Given the description of an element on the screen output the (x, y) to click on. 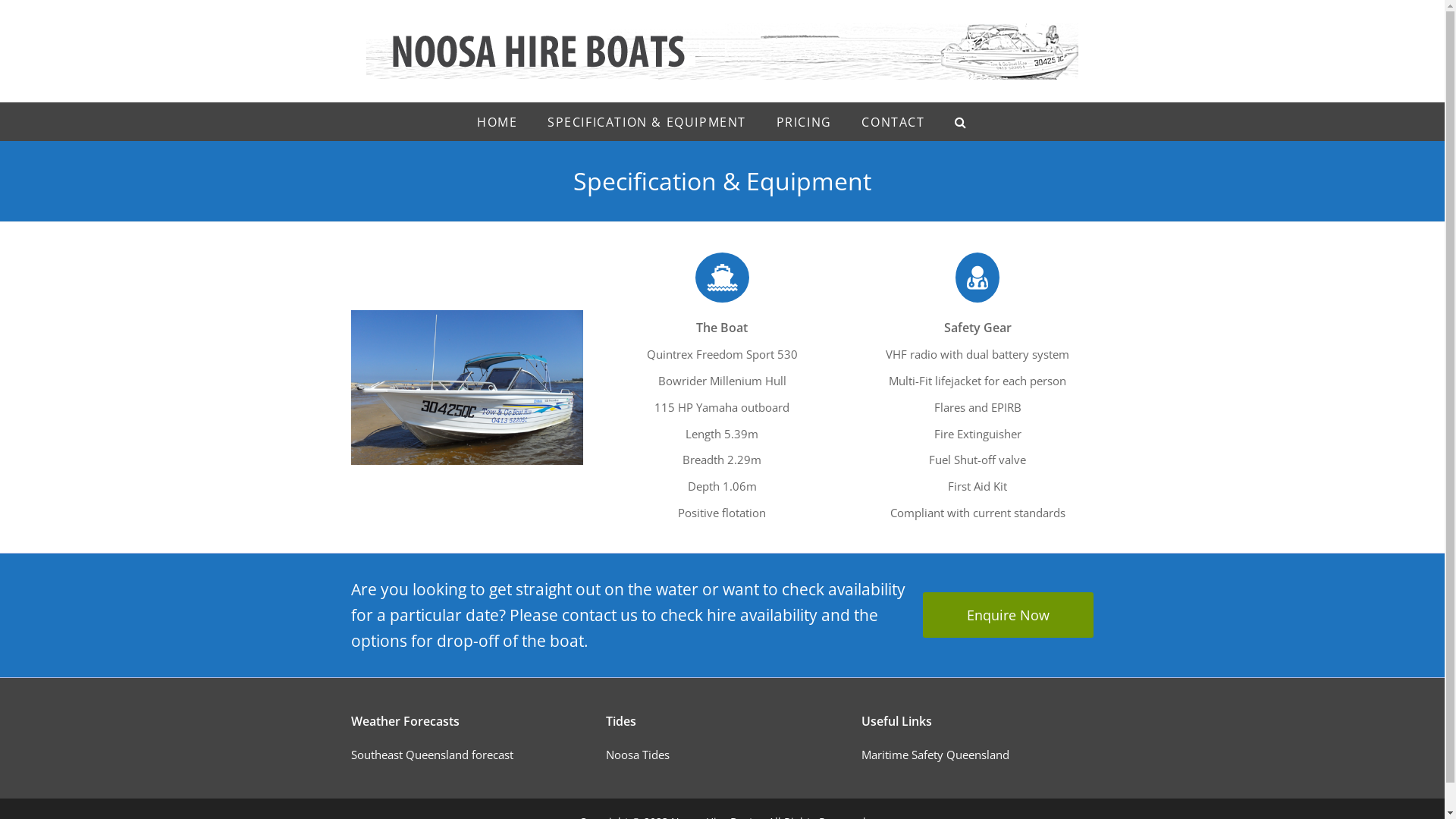
HOME Element type: text (496, 122)
PRICING Element type: text (803, 122)
Southeast Queensland forecast Element type: text (431, 754)
Enquire Now Element type: text (1007, 614)
SPECIFICATION & EQUIPMENT Element type: text (646, 122)
Noosa Tides Element type: text (637, 754)
CONTACT Element type: text (893, 122)
Maritime Safety Queensland Element type: text (935, 754)
